Given the description of an element on the screen output the (x, y) to click on. 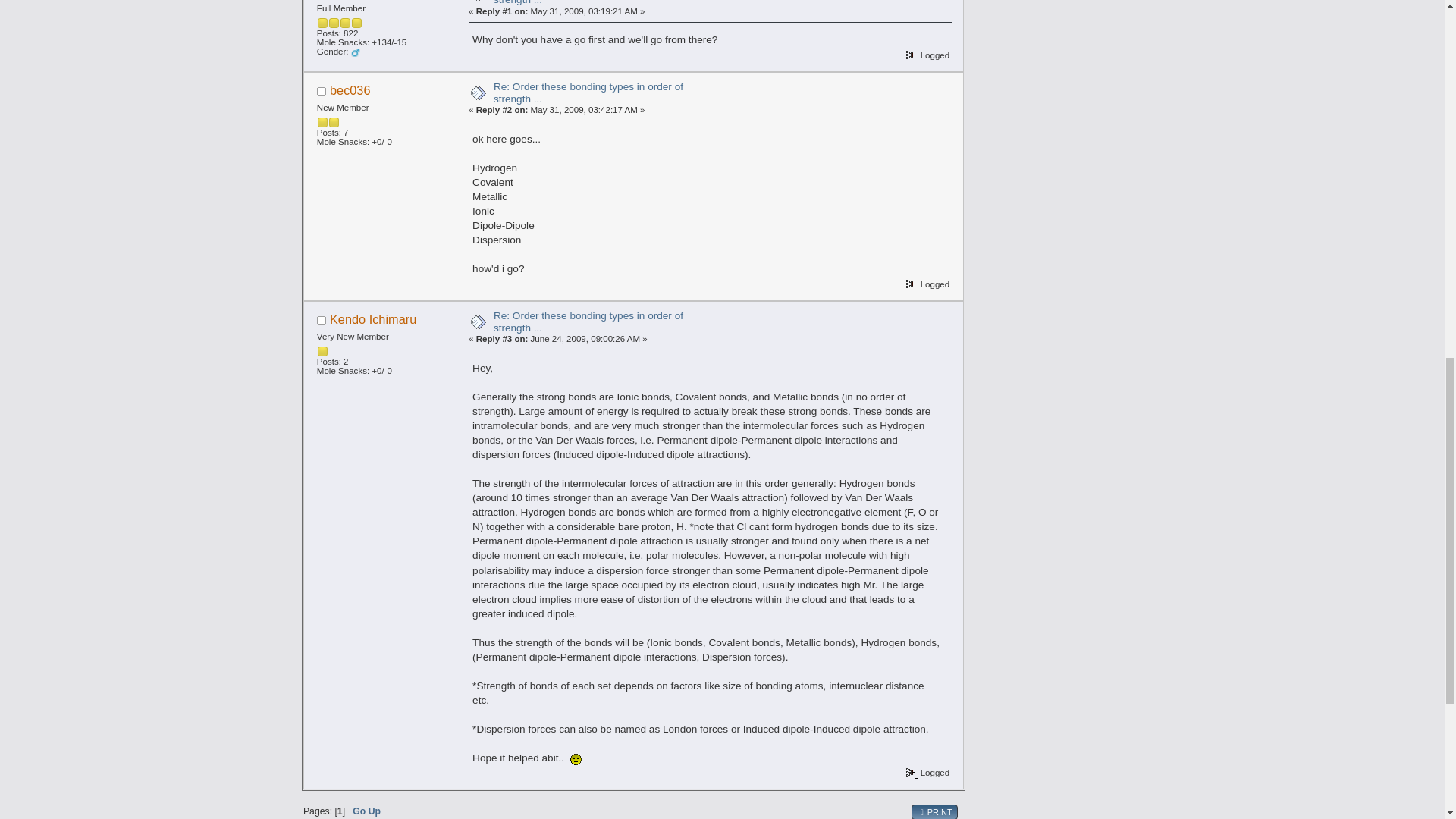
View the profile of Kendo Ichimaru (373, 318)
Kendo Ichimaru (373, 318)
Re: Order these bonding types in order of strength ... (587, 321)
Re: Order these bonding types in order of strength ... (587, 2)
View the profile of bec036 (350, 90)
Go Up (366, 810)
Smiley (575, 758)
Re: Order these bonding types in order of strength ... (587, 92)
PRINT (934, 811)
bec036 (350, 90)
